Given the description of an element on the screen output the (x, y) to click on. 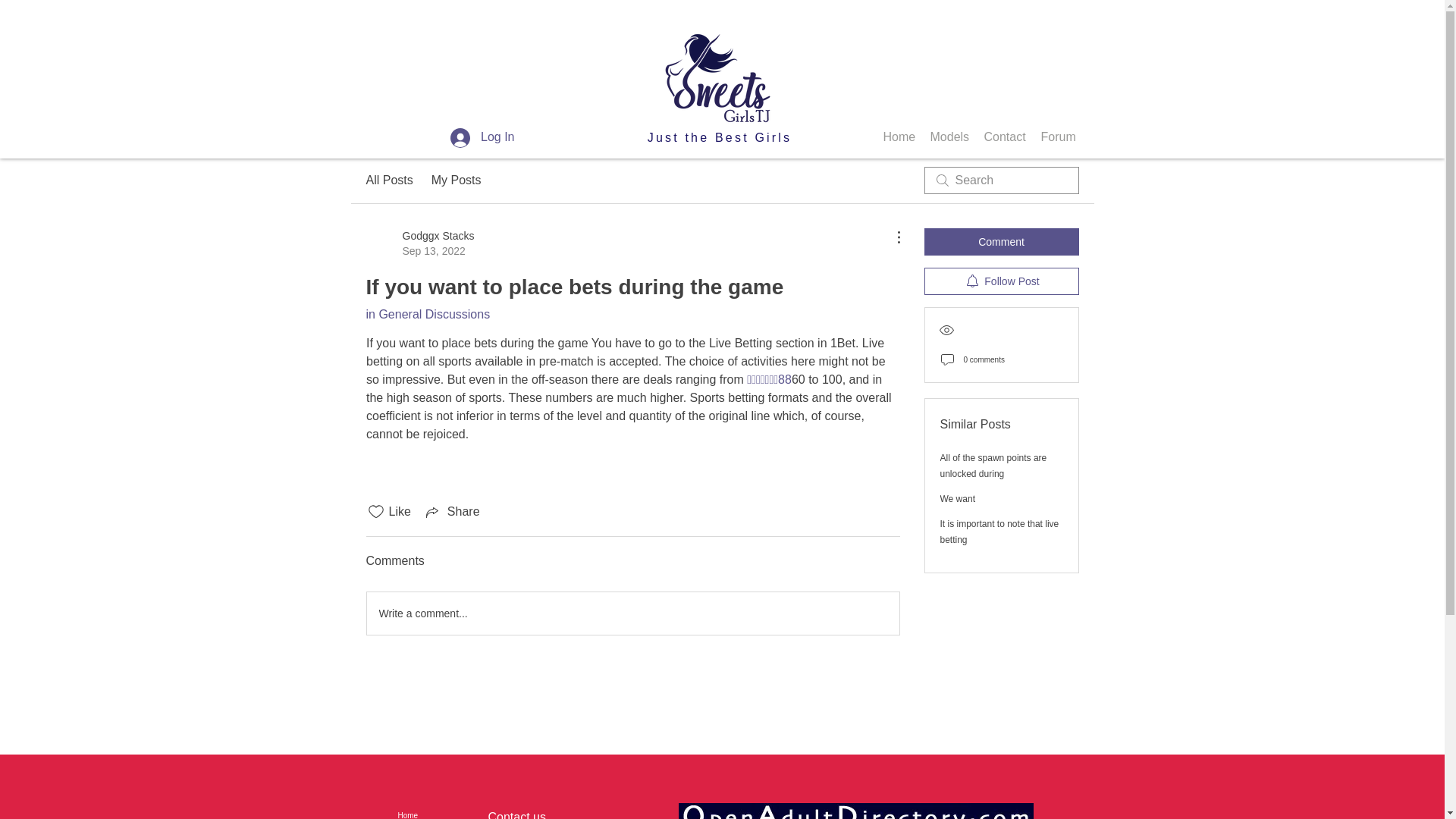
Forum (1056, 137)
All Posts (388, 180)
Models (948, 137)
SGA2.png (717, 69)
Contact (1004, 137)
Share (451, 511)
Log In (481, 136)
Just the Best Girls (719, 137)
in General Discussions (427, 314)
Write a comment... (632, 613)
It is important to note that live betting (999, 531)
All of the spawn points are unlocked during (993, 465)
We want (419, 243)
Home (957, 498)
